Given the description of an element on the screen output the (x, y) to click on. 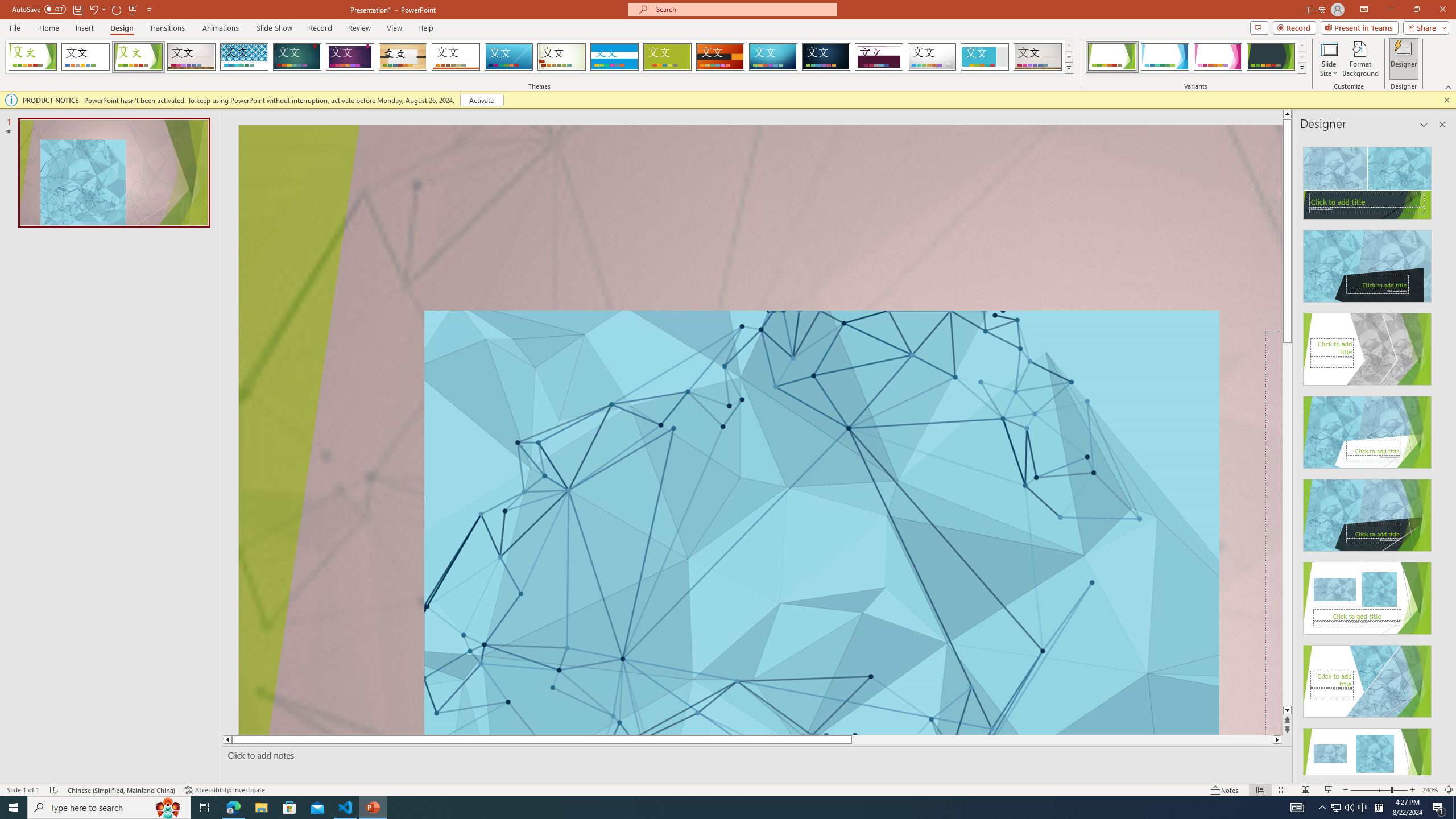
Retrospect (455, 56)
An abstract genetic concept (760, 429)
Slice (508, 56)
Facet Variant 4 (1270, 56)
Themes (1068, 67)
Wisp (561, 56)
FadeVTI (32, 56)
Recommended Design: Design Idea (1366, 179)
